Given the description of an element on the screen output the (x, y) to click on. 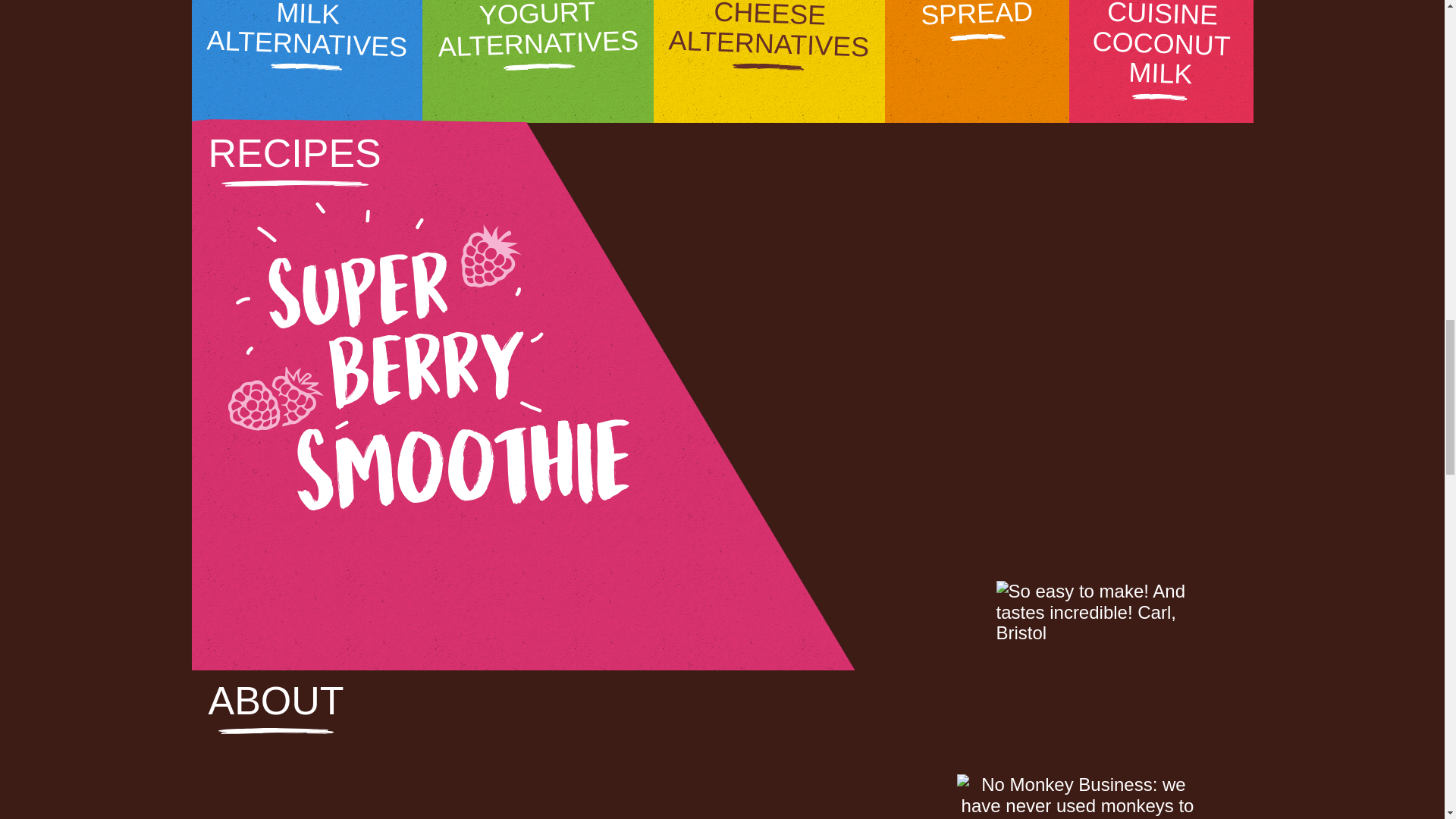
CHEESE ALTERNATIVES (769, 61)
YOGURT ALTERNATIVES (537, 61)
CUISINE COCONUT MILK (1160, 61)
SEE OUR RECIPES (429, 562)
SPREAD (976, 61)
MILK ALTERNATIVES (306, 61)
